Given the description of an element on the screen output the (x, y) to click on. 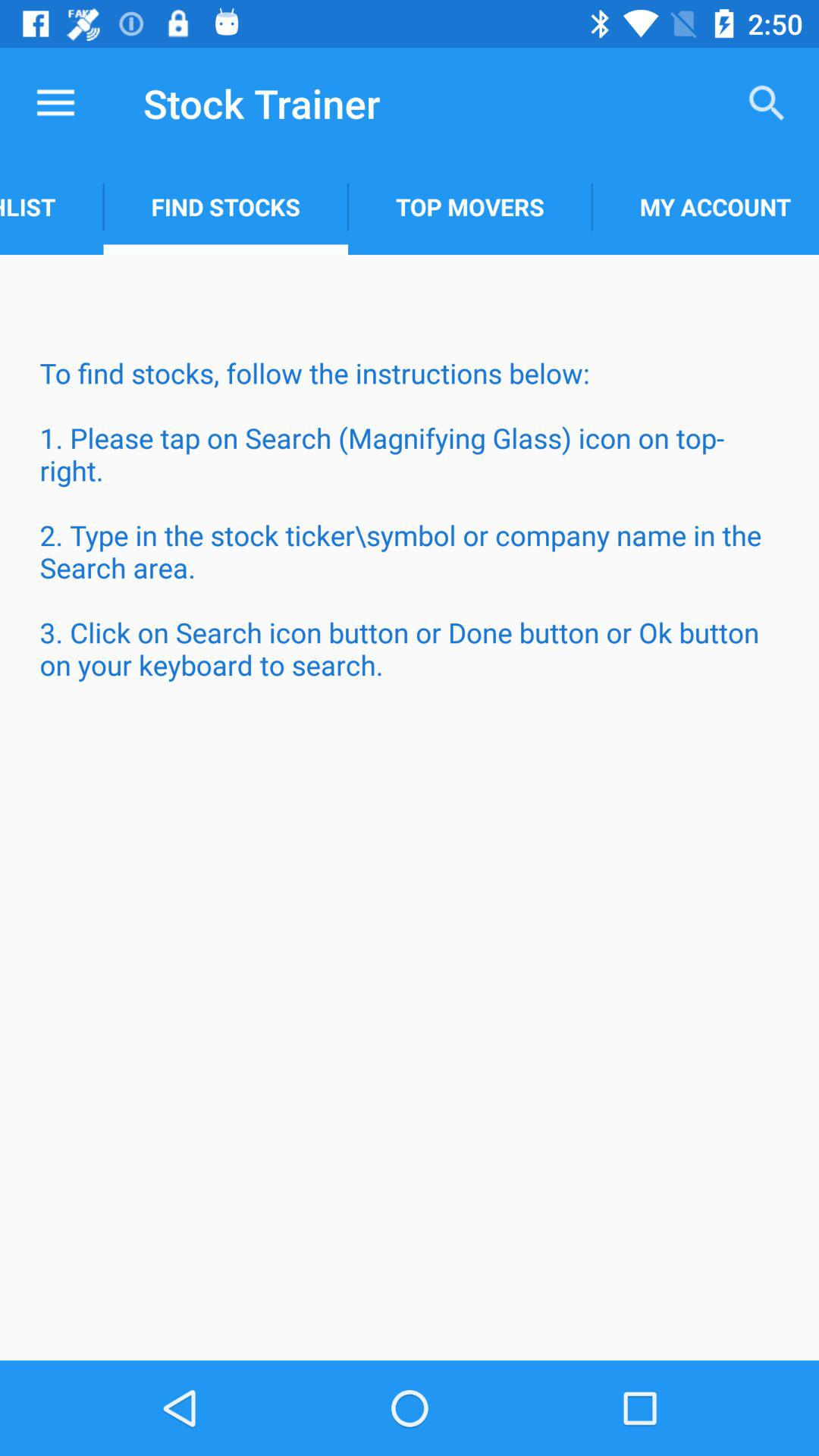
launch watchlist app (51, 206)
